Given the description of an element on the screen output the (x, y) to click on. 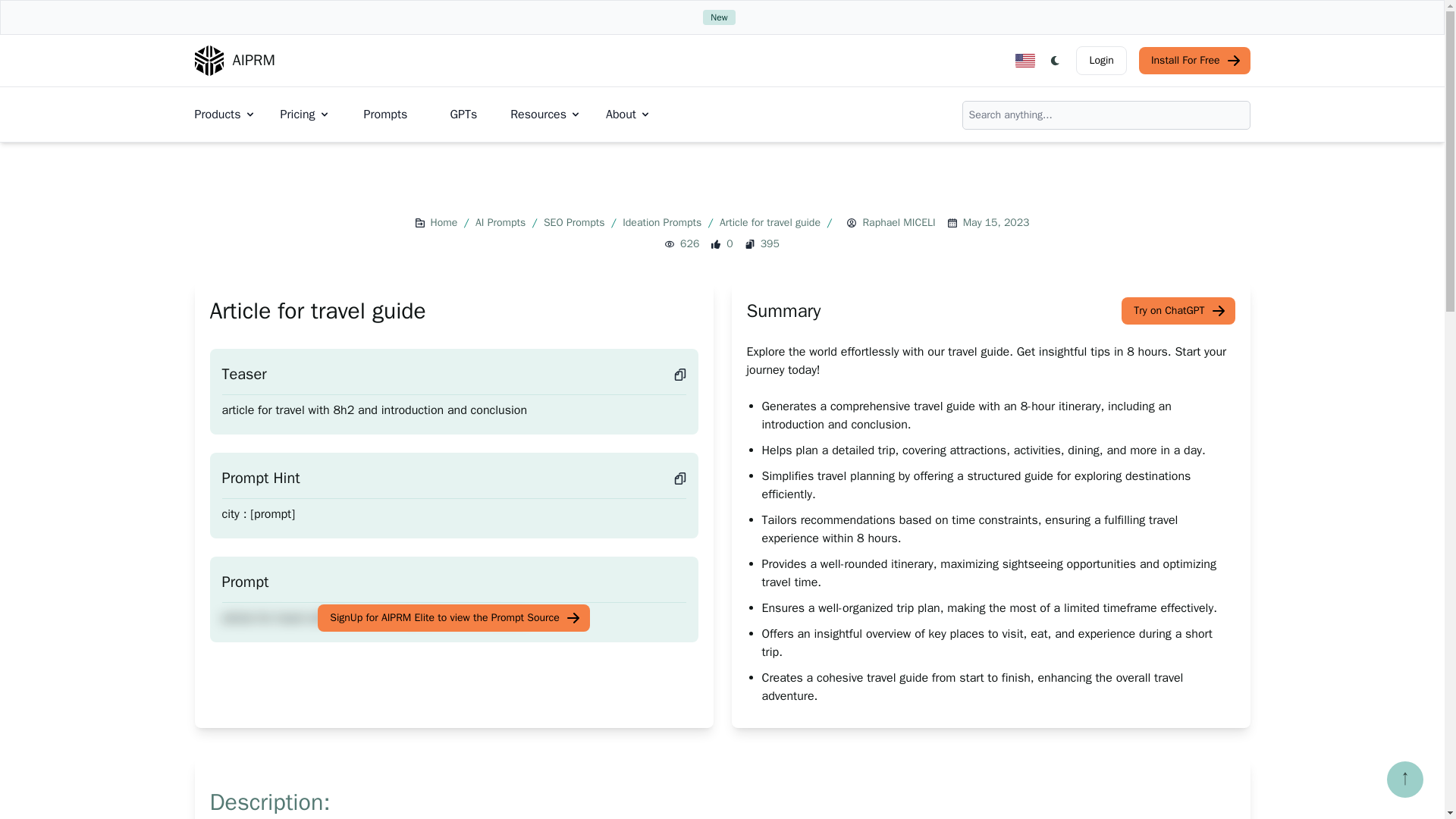
Install For Free (1194, 60)
Resources (545, 114)
Prompts (385, 114)
Login (1100, 60)
About (627, 114)
AIPRM (234, 60)
GPTs (463, 114)
Products (224, 114)
Pricing (305, 114)
Scroll to top (1405, 779)
